Given the description of an element on the screen output the (x, y) to click on. 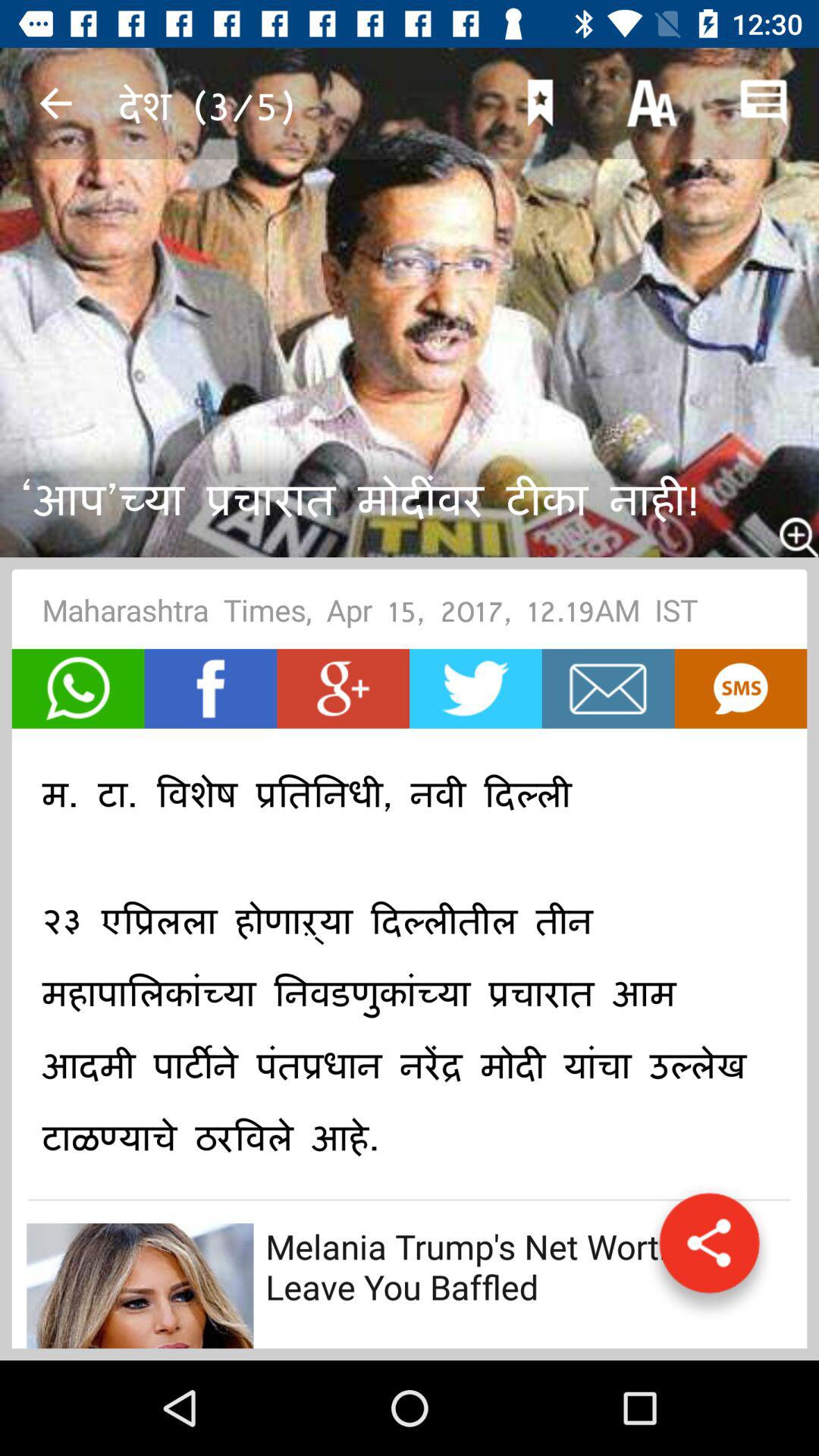
share the article (709, 1250)
